Given the description of an element on the screen output the (x, y) to click on. 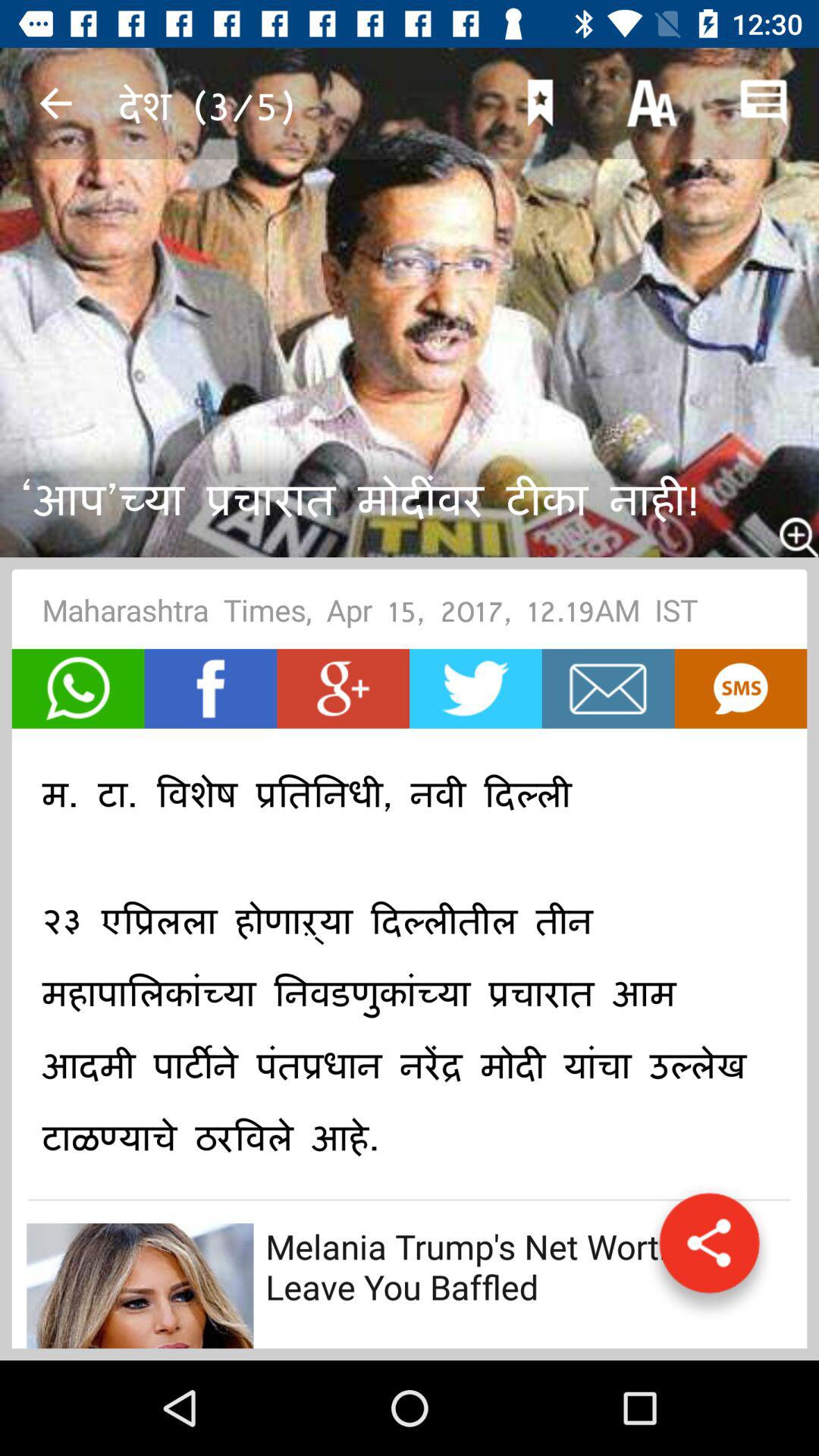
share the article (709, 1250)
